Given the description of an element on the screen output the (x, y) to click on. 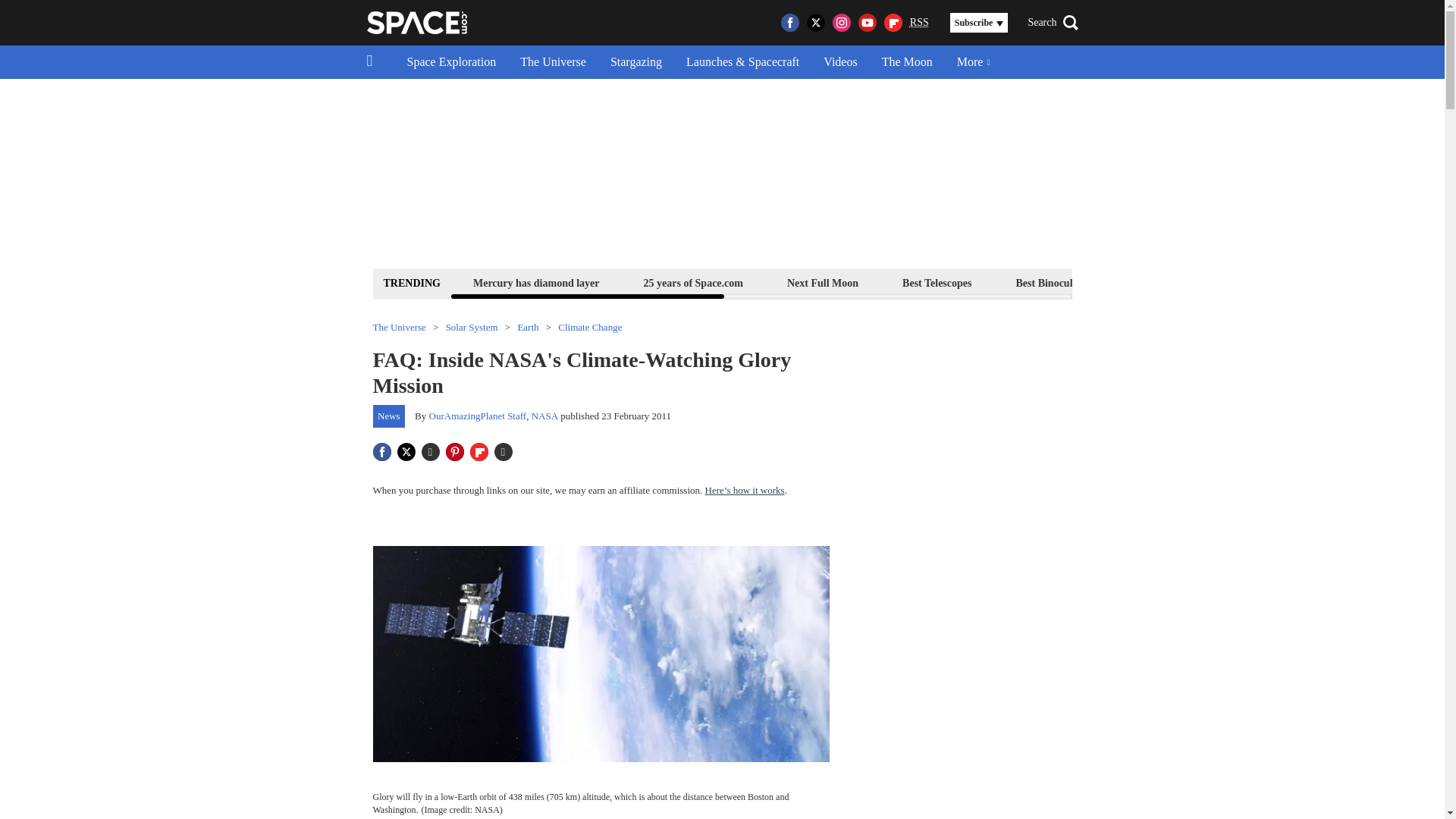
Space Calendar (1301, 282)
Really Simple Syndication (919, 21)
Mercury has diamond layer (536, 282)
Best Star Projectors (1176, 282)
The Moon (906, 61)
Videos (839, 61)
Best Telescopes (936, 282)
Stargazing (636, 61)
RSS (919, 22)
Space Exploration (451, 61)
Next Full Moon (822, 282)
Best Binoculars (1051, 282)
The Universe (553, 61)
25 years of Space.com (693, 282)
